Given the description of an element on the screen output the (x, y) to click on. 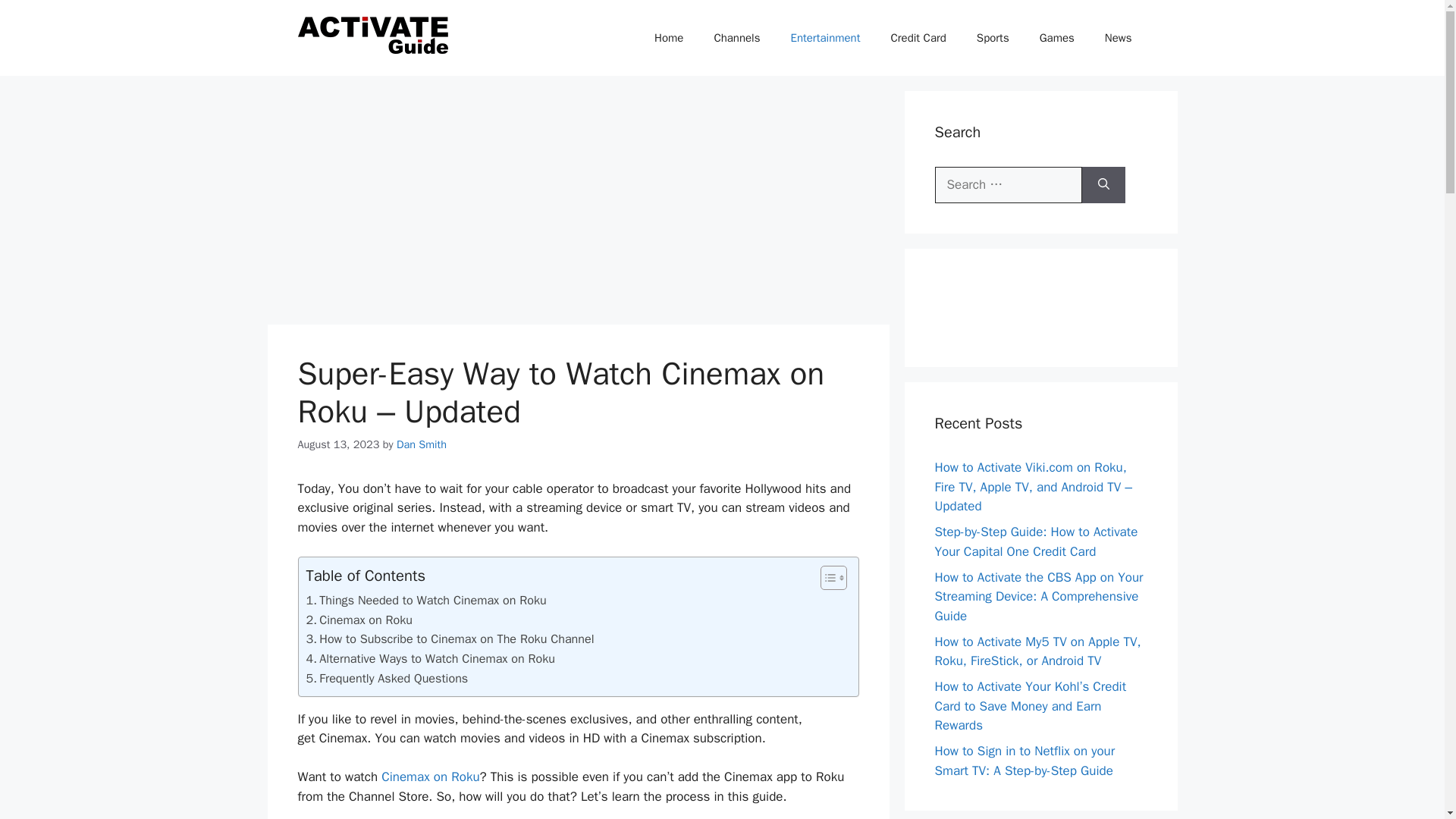
Home (668, 37)
Frequently Asked Questions (386, 678)
Cinemax on Roku (359, 619)
Things Needed to Watch Cinemax on Roku (426, 600)
Dan Smith (421, 444)
Credit Card (917, 37)
